Given the description of an element on the screen output the (x, y) to click on. 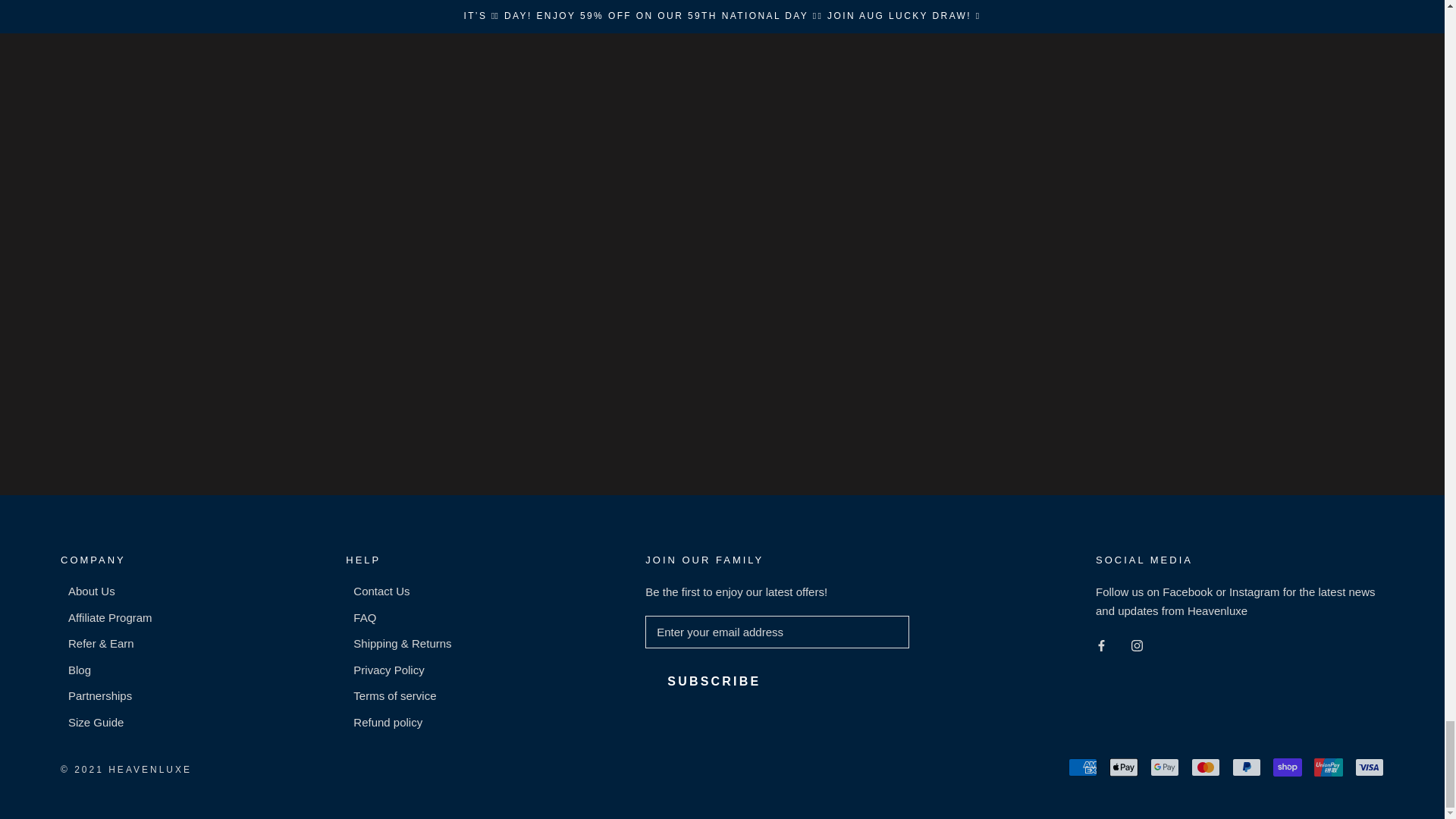
Google Pay (1164, 767)
Mastercard (1205, 767)
American Express (1082, 767)
PayPal (1245, 767)
Apple Pay (1123, 767)
